Given the description of an element on the screen output the (x, y) to click on. 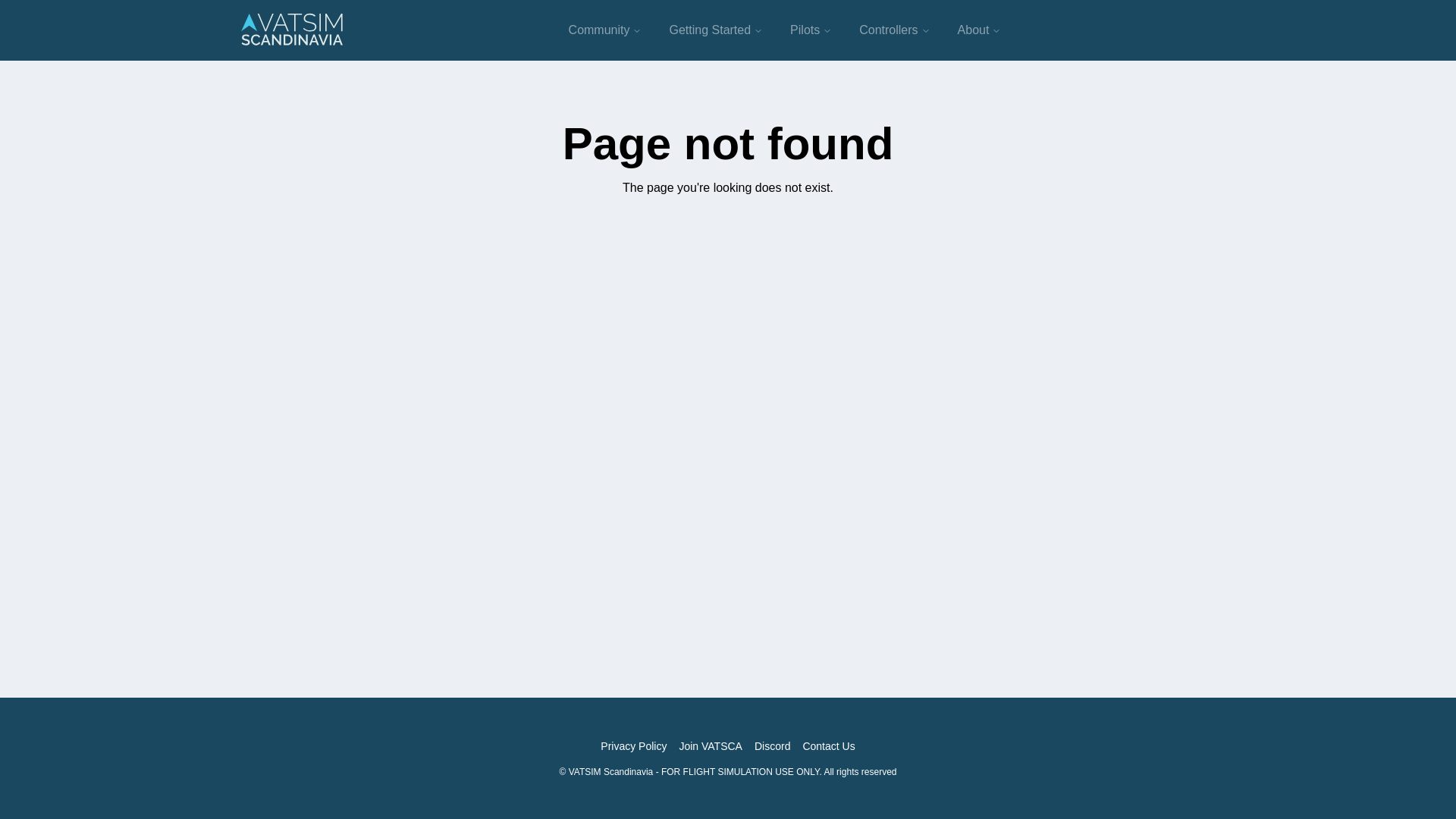
Join VATSCA (710, 746)
Discord (772, 746)
Controllers (894, 30)
About (978, 30)
Getting Started (715, 30)
Community (604, 30)
Pilots (810, 30)
Contact Us (828, 746)
Privacy Policy (632, 746)
